Given the description of an element on the screen output the (x, y) to click on. 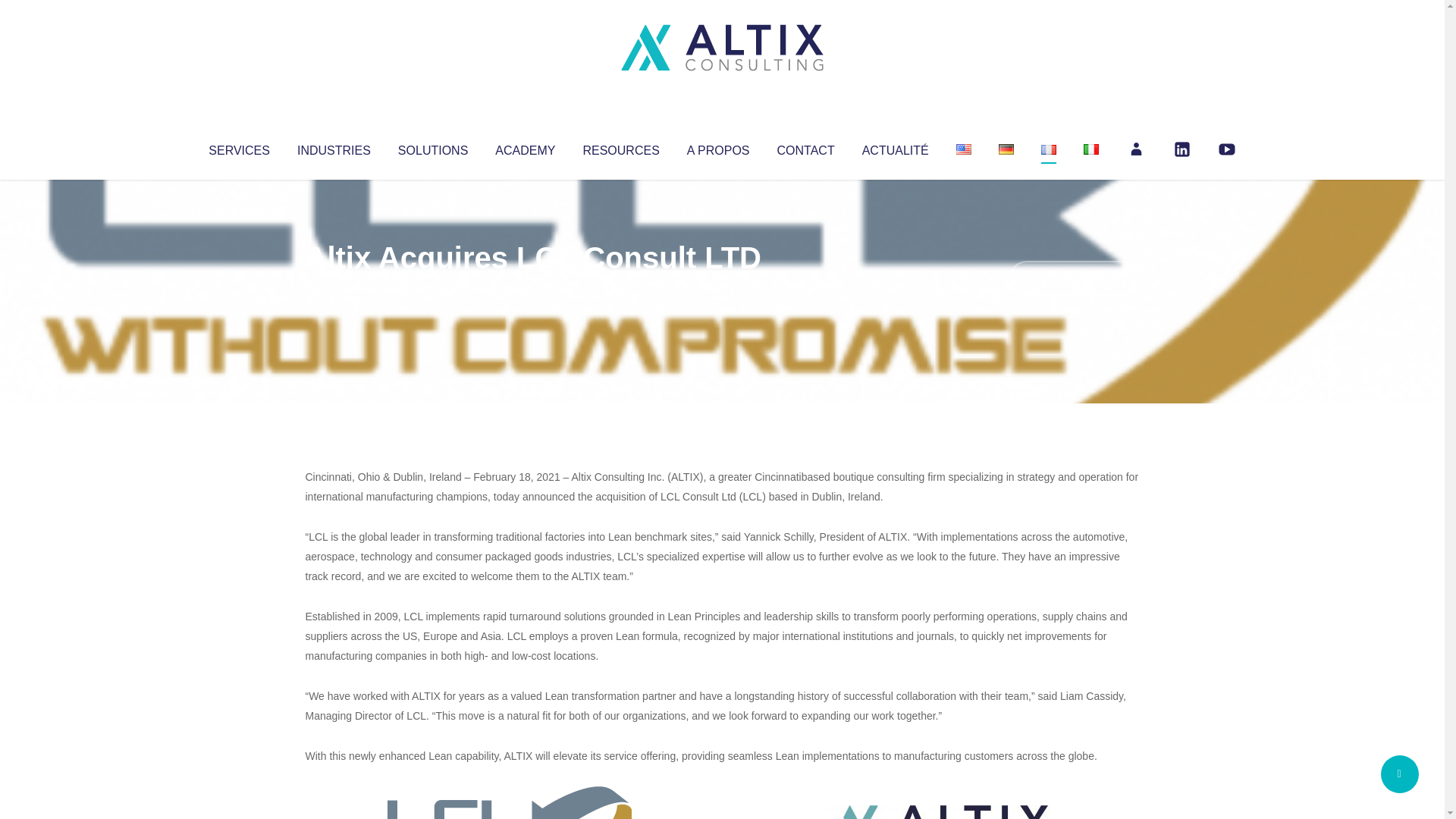
SERVICES (238, 146)
A PROPOS (718, 146)
ACADEMY (524, 146)
No Comments (1073, 278)
INDUSTRIES (334, 146)
Altix (333, 287)
RESOURCES (620, 146)
SOLUTIONS (432, 146)
Uncategorized (530, 287)
Articles par Altix (333, 287)
